Given the description of an element on the screen output the (x, y) to click on. 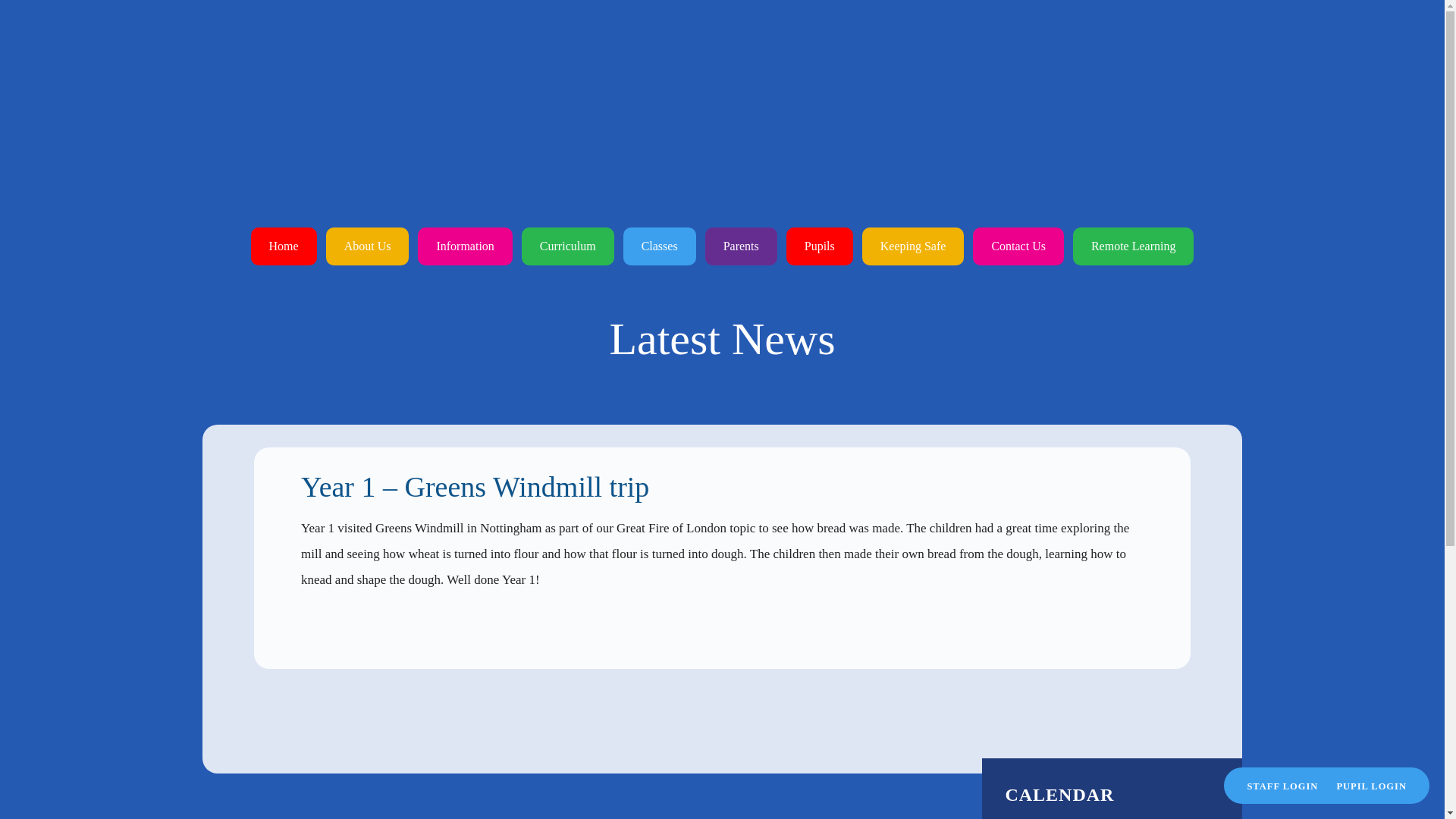
About Us (367, 246)
Information (464, 246)
Curriculum (567, 246)
Classes (659, 246)
Home (283, 246)
